Given the description of an element on the screen output the (x, y) to click on. 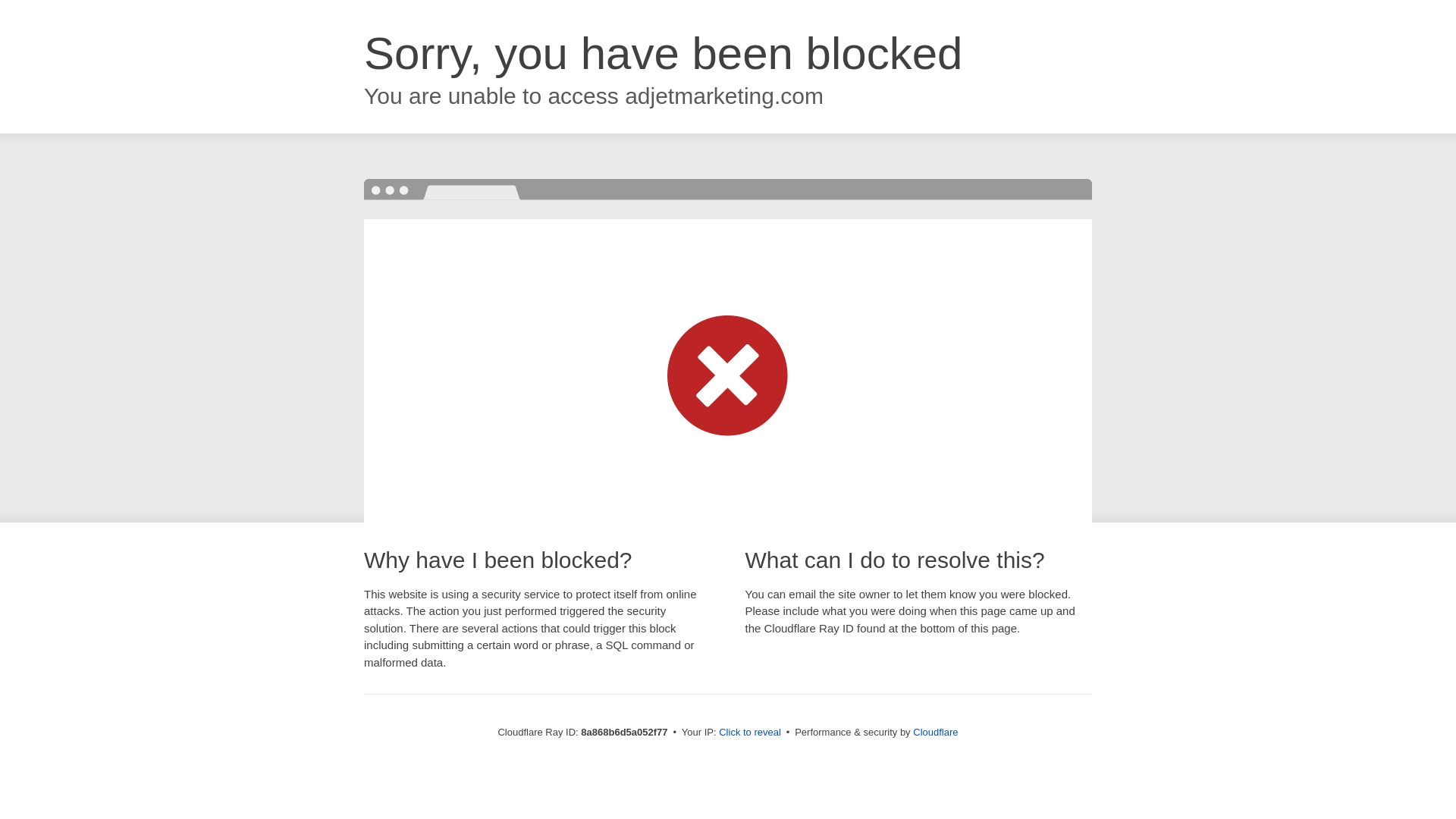
Click to reveal (749, 732)
Cloudflare (935, 731)
